Given the description of an element on the screen output the (x, y) to click on. 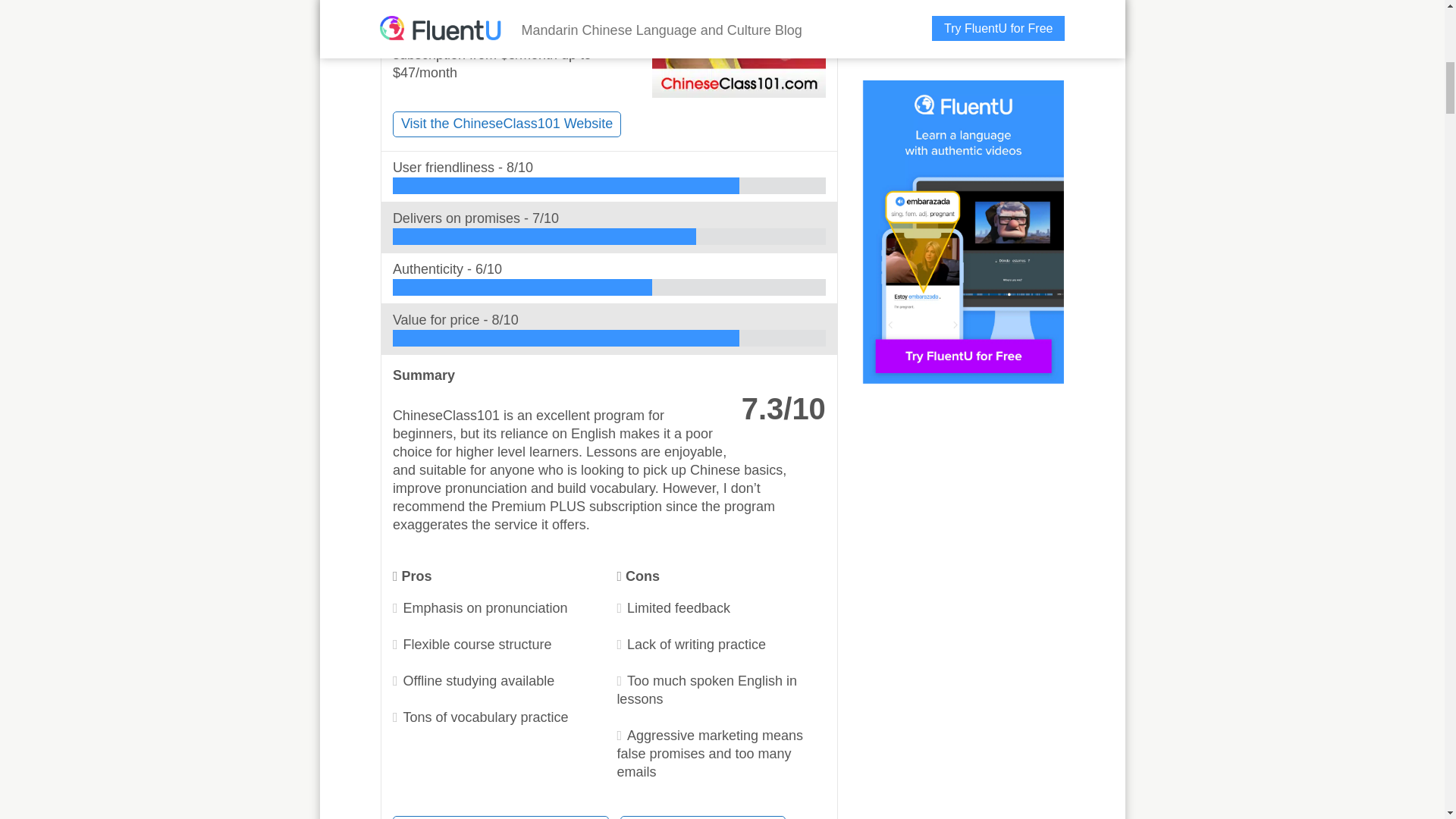
Best Chinese YouTube Channels (501, 817)
Visit the ChineseClass101 Website (507, 124)
Online Chinese Courses (702, 817)
